Given the description of an element on the screen output the (x, y) to click on. 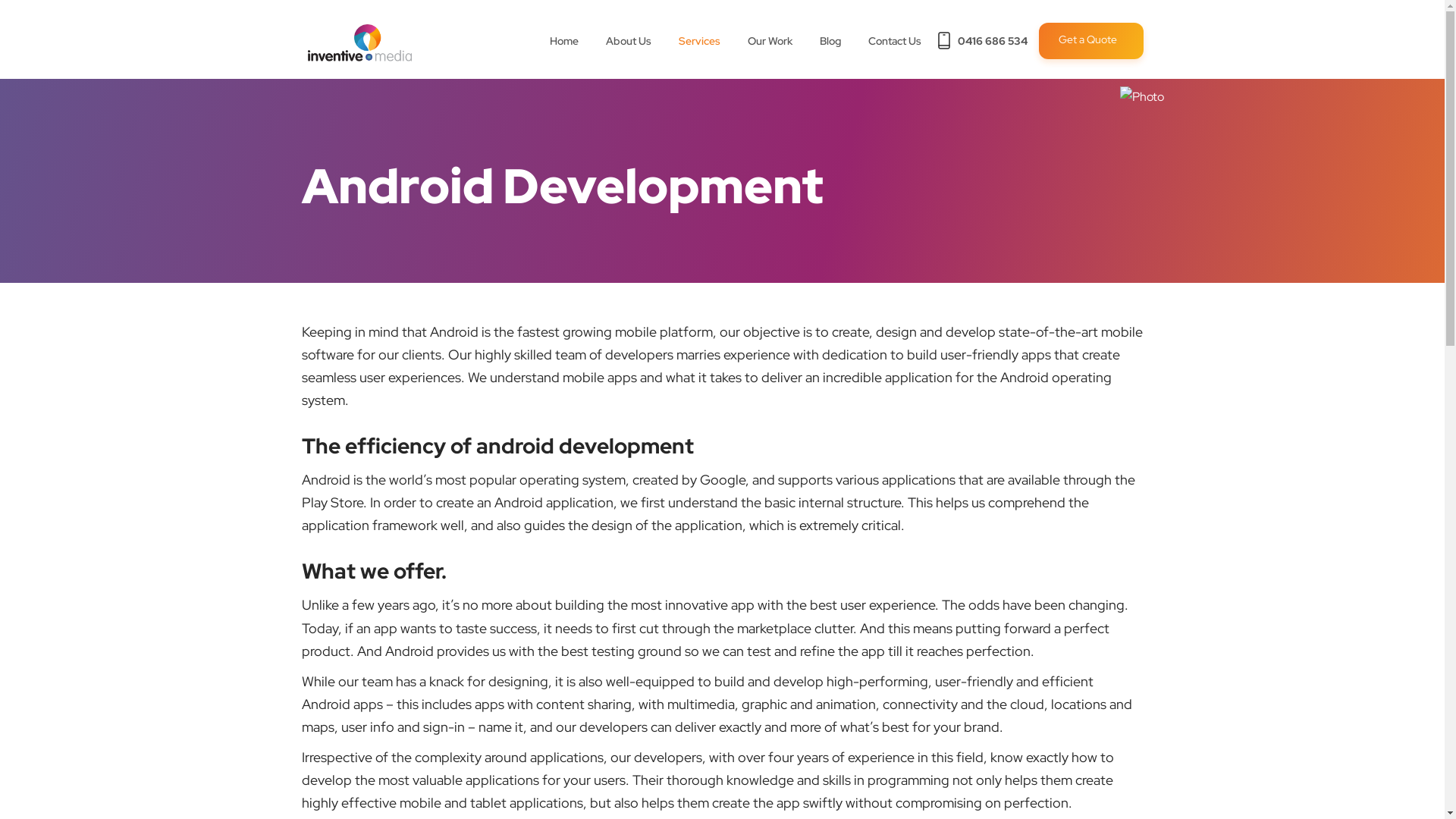
Our Work Element type: text (769, 40)
Get a Quote Element type: text (1090, 40)
About Us Element type: text (627, 40)
Home Element type: text (563, 40)
Services Element type: text (698, 40)
Blog Element type: text (829, 40)
Contact Us Element type: text (893, 40)
0416 686 534 Element type: text (980, 40)
